Given the description of an element on the screen output the (x, y) to click on. 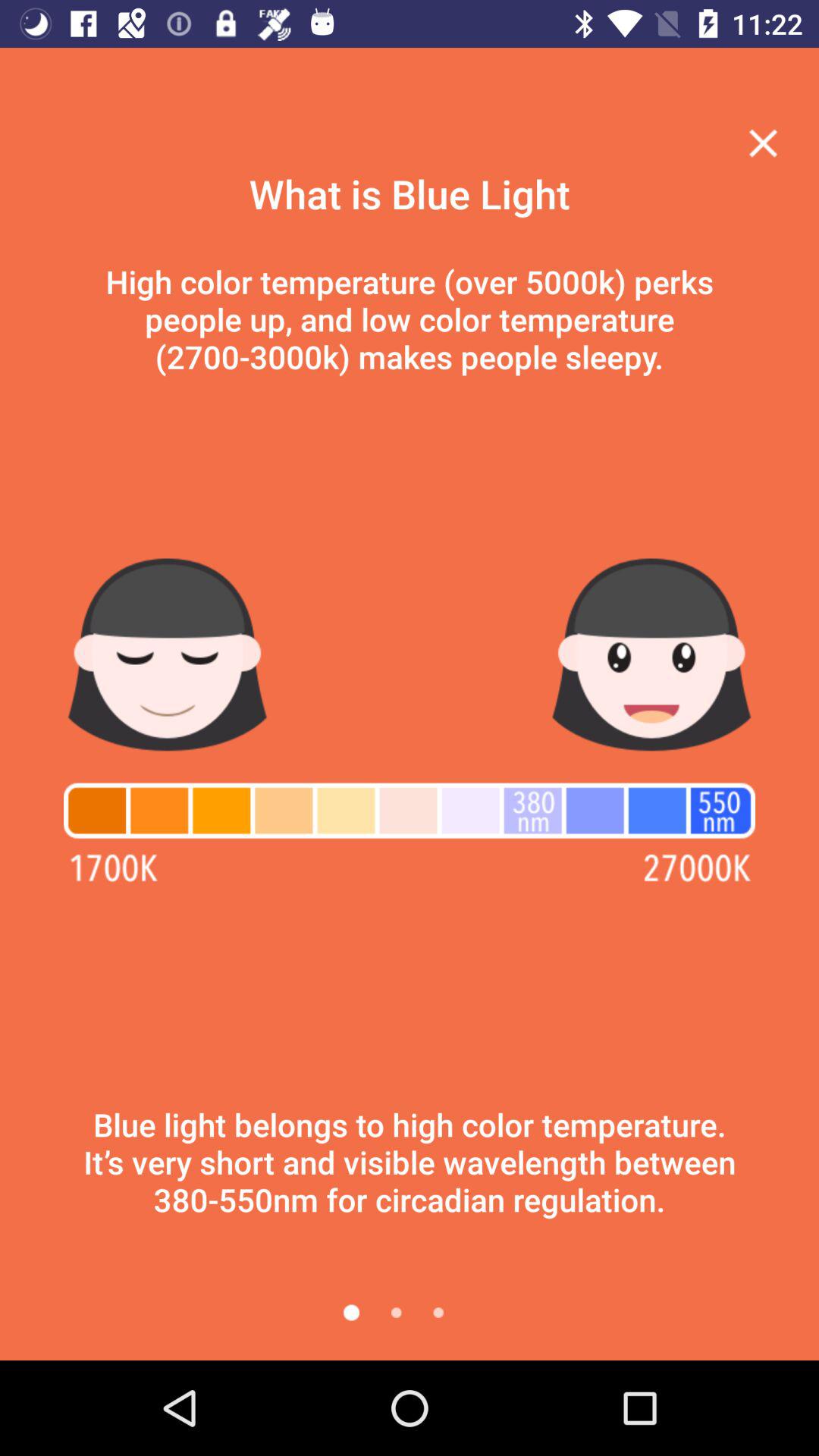
close window (763, 143)
